Given the description of an element on the screen output the (x, y) to click on. 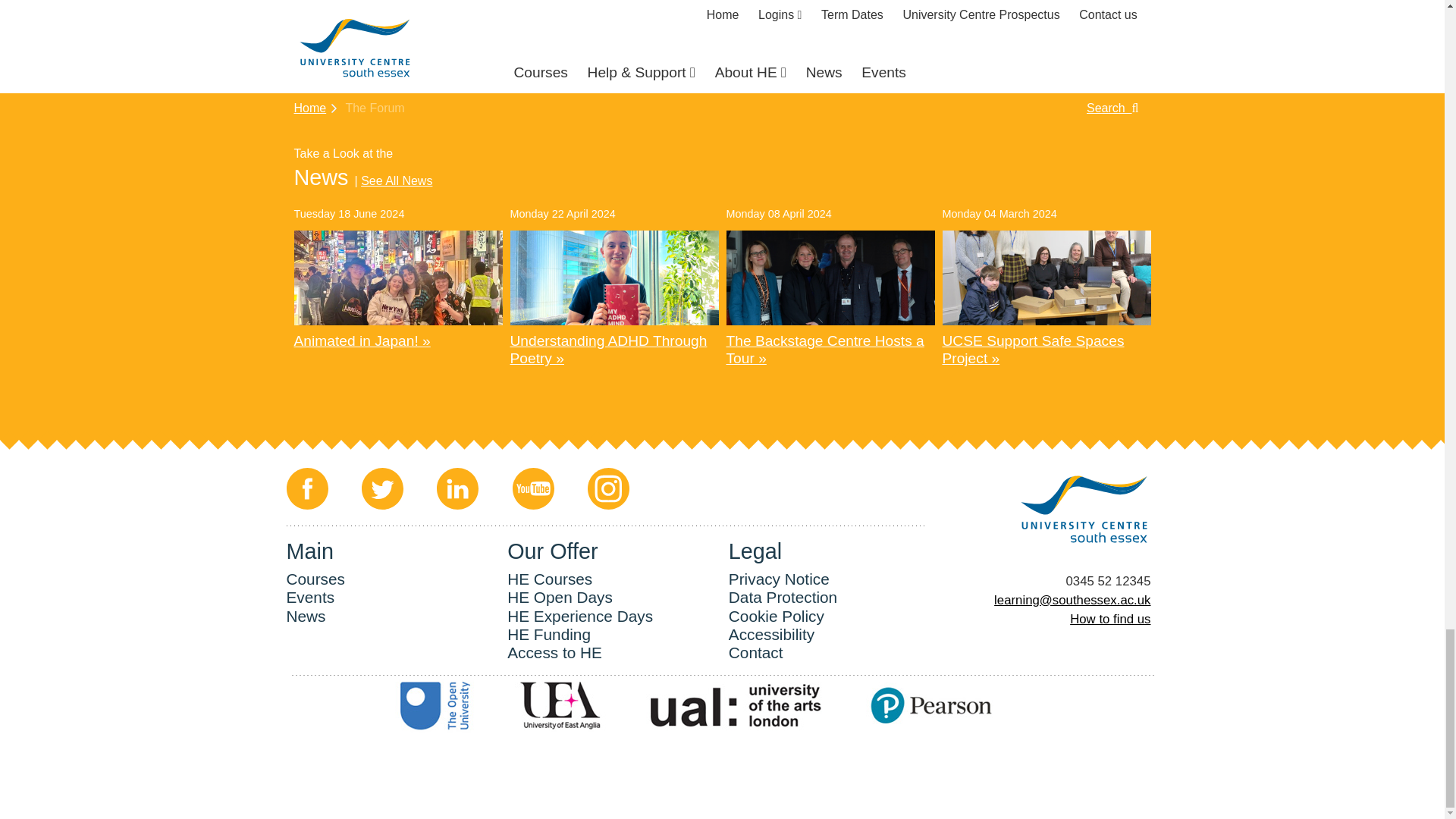
View course (497, 33)
